Given the description of an element on the screen output the (x, y) to click on. 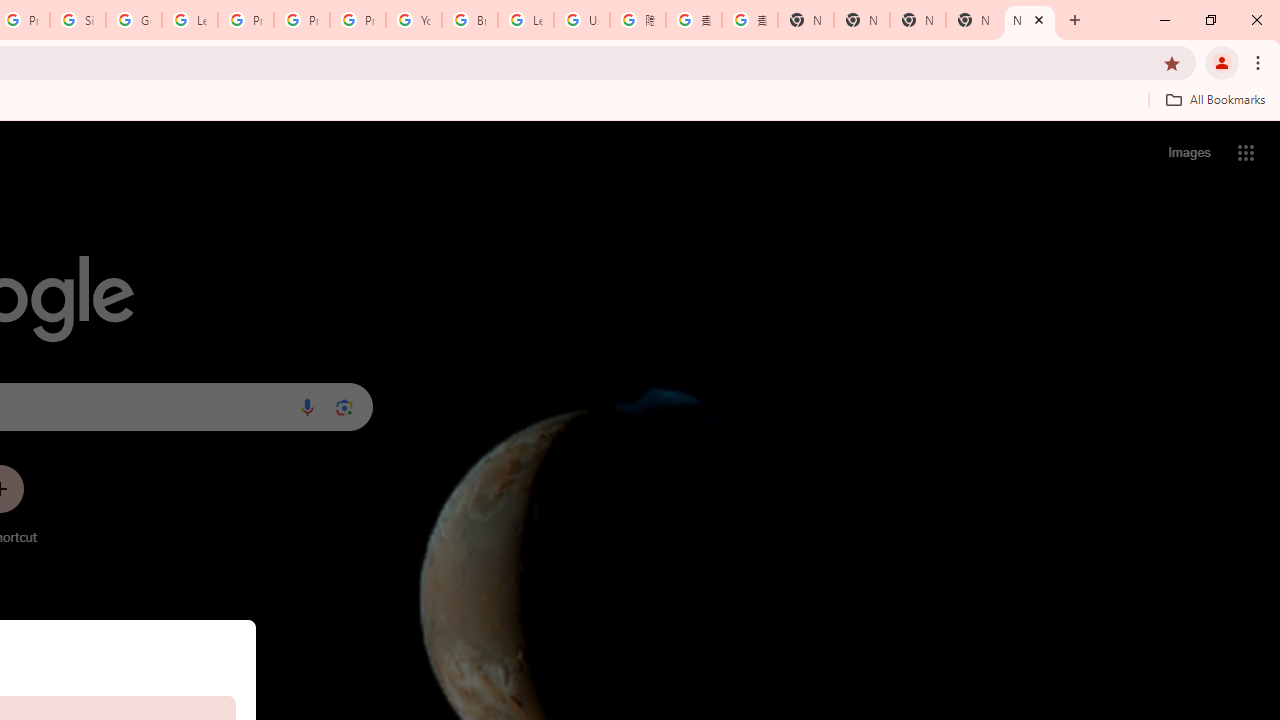
New Tab (1030, 20)
Privacy Help Center - Policies Help (301, 20)
